Given the description of an element on the screen output the (x, y) to click on. 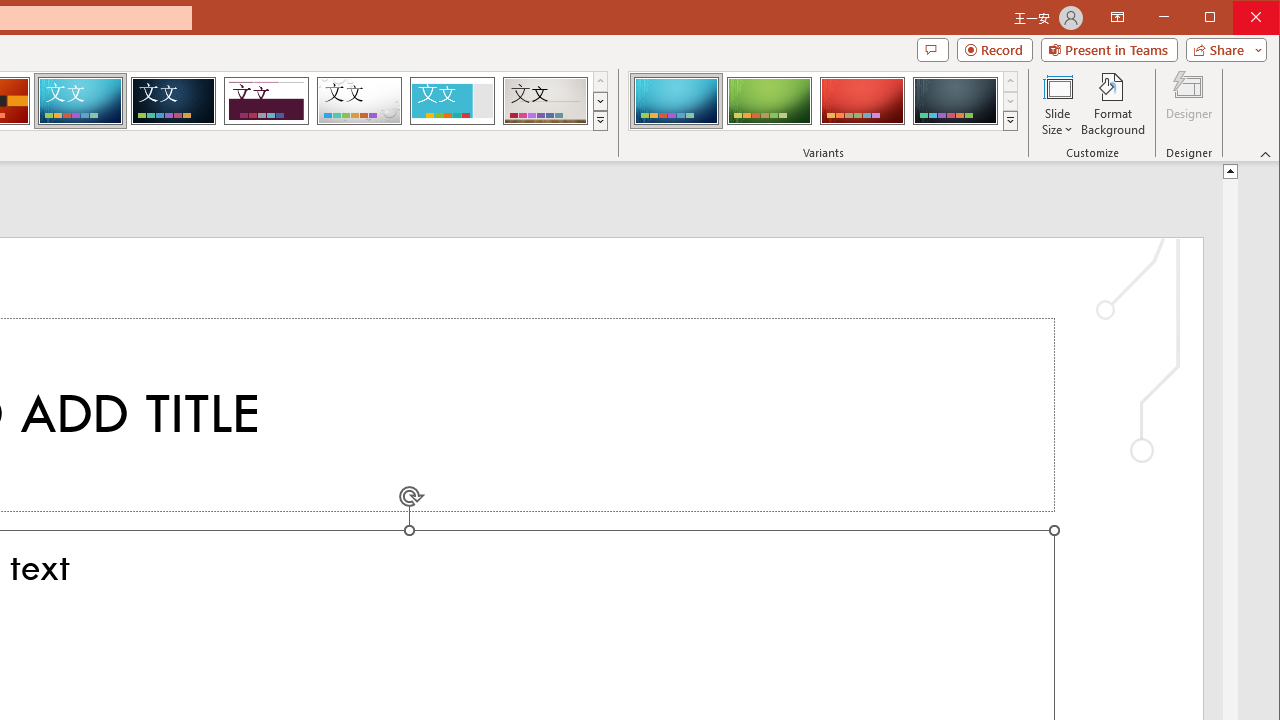
Droplet (359, 100)
Class: NetUIImage (1011, 120)
Themes (600, 120)
Circuit Variant 4 (955, 100)
Present in Teams (1108, 49)
Frame (452, 100)
Row Down (1010, 101)
Maximize (1238, 18)
Comments (932, 49)
Damask (173, 100)
Designer (1188, 104)
Circuit (80, 100)
Record (994, 49)
Variants (1010, 120)
